Given the description of an element on the screen output the (x, y) to click on. 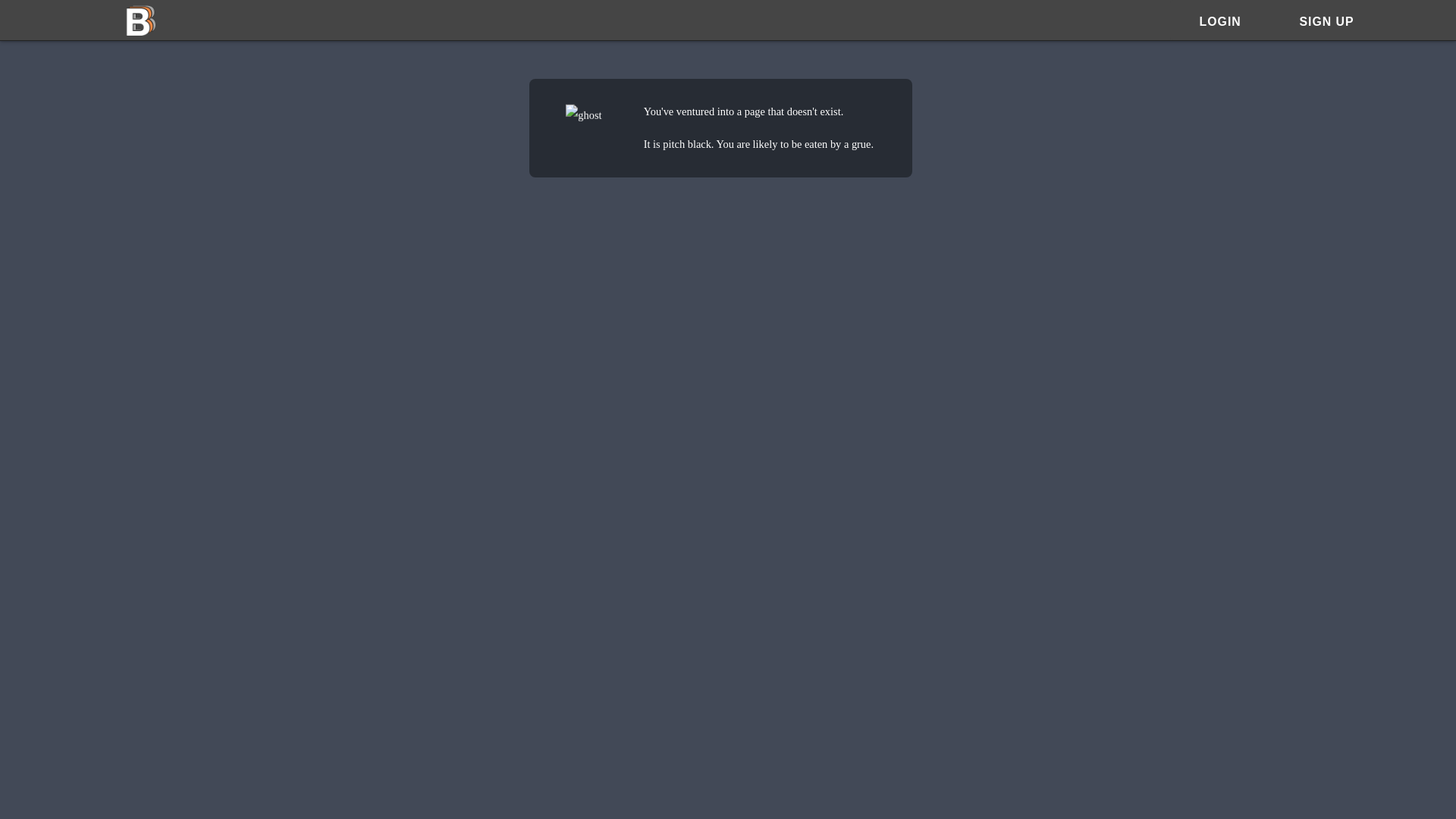
SIGN UP (1326, 20)
LOGIN (1219, 20)
